Given the description of an element on the screen output the (x, y) to click on. 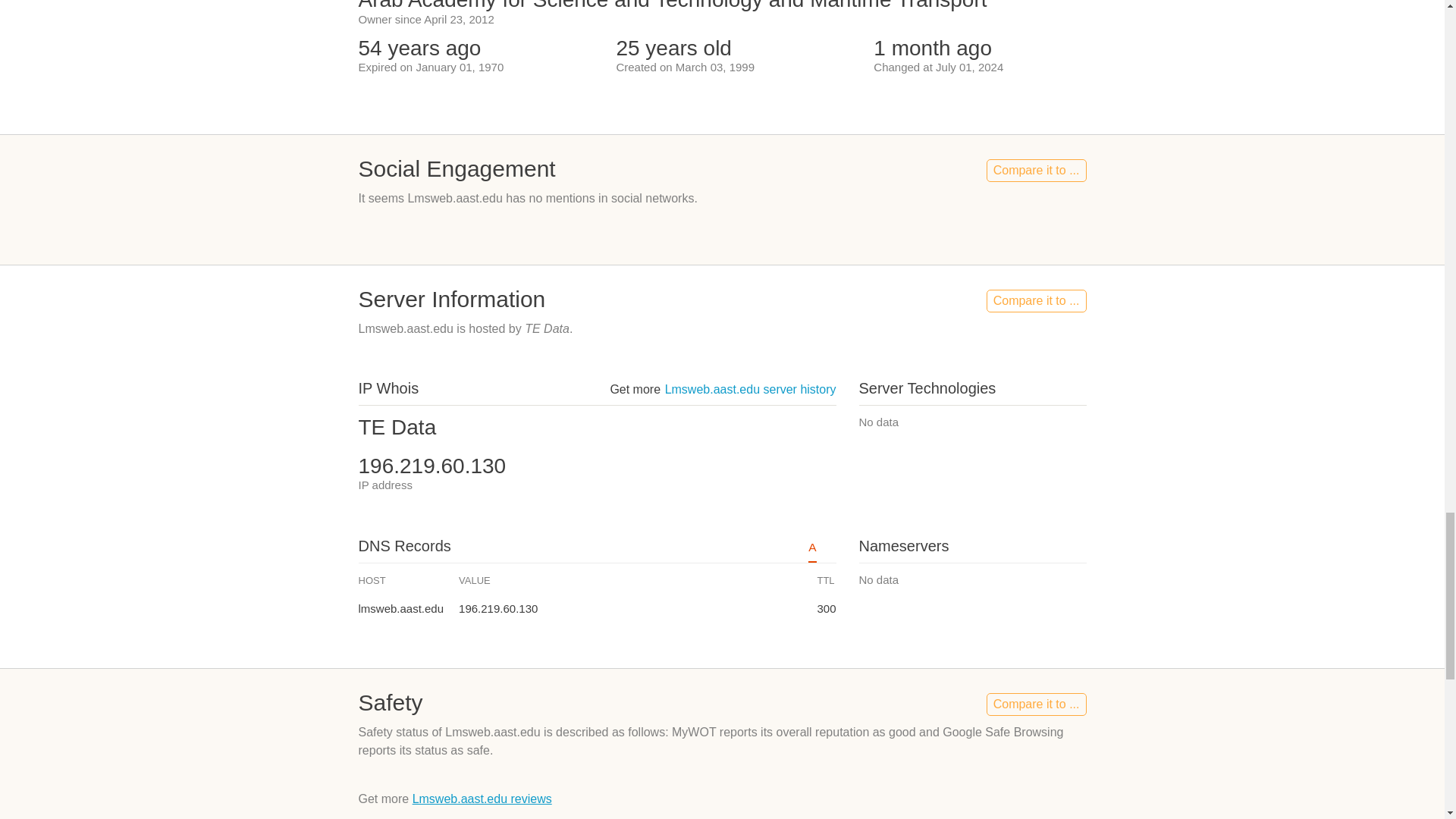
Compare it to ... (1036, 169)
Lmsweb.aast.edu server history (750, 389)
Compare it to ... (1036, 300)
